Given the description of an element on the screen output the (x, y) to click on. 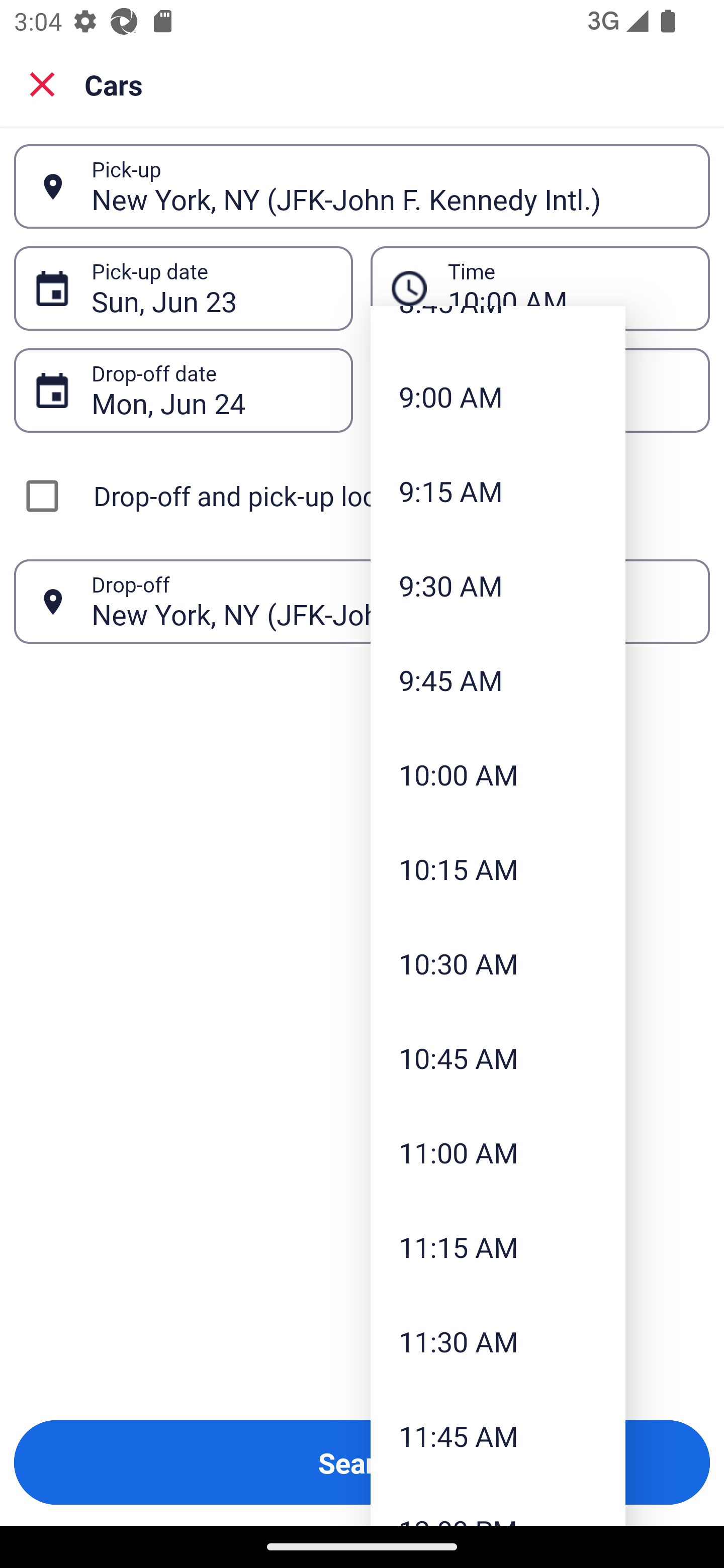
9:00 AM (497, 396)
9:15 AM (497, 490)
9:30 AM (497, 585)
9:45 AM (497, 680)
10:00 AM (497, 774)
10:15 AM (497, 868)
10:30 AM (497, 963)
10:45 AM (497, 1058)
11:00 AM (497, 1152)
11:15 AM (497, 1246)
11:30 AM (497, 1341)
11:45 AM (497, 1436)
